Given the description of an element on the screen output the (x, y) to click on. 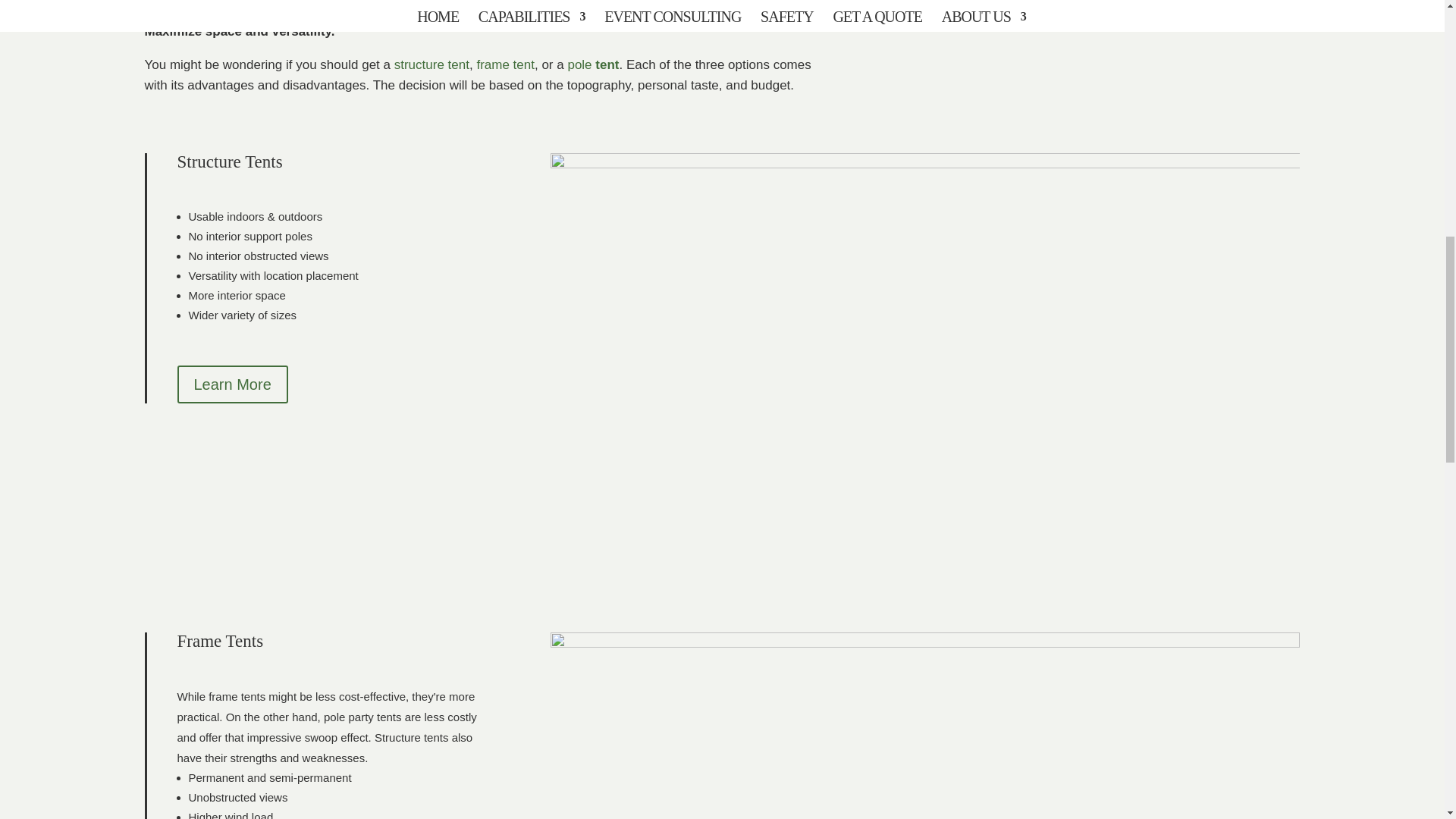
frame tent (505, 64)
Learn More (232, 384)
structure tent (431, 64)
pole (579, 64)
